Given the description of an element on the screen output the (x, y) to click on. 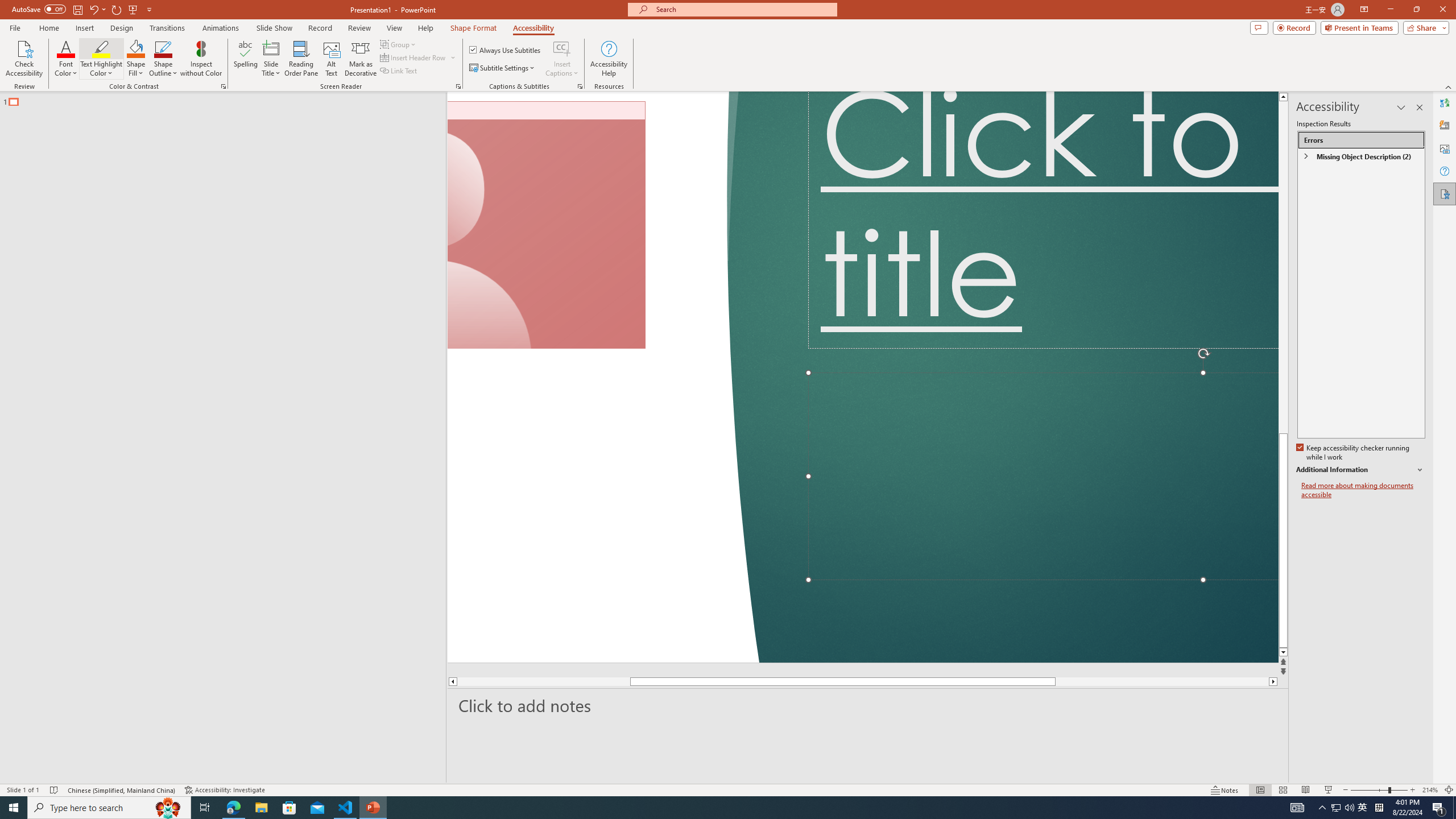
Color & Contrast (223, 85)
Reading Order Pane (301, 58)
Inspect without Color (201, 58)
